Given the description of an element on the screen output the (x, y) to click on. 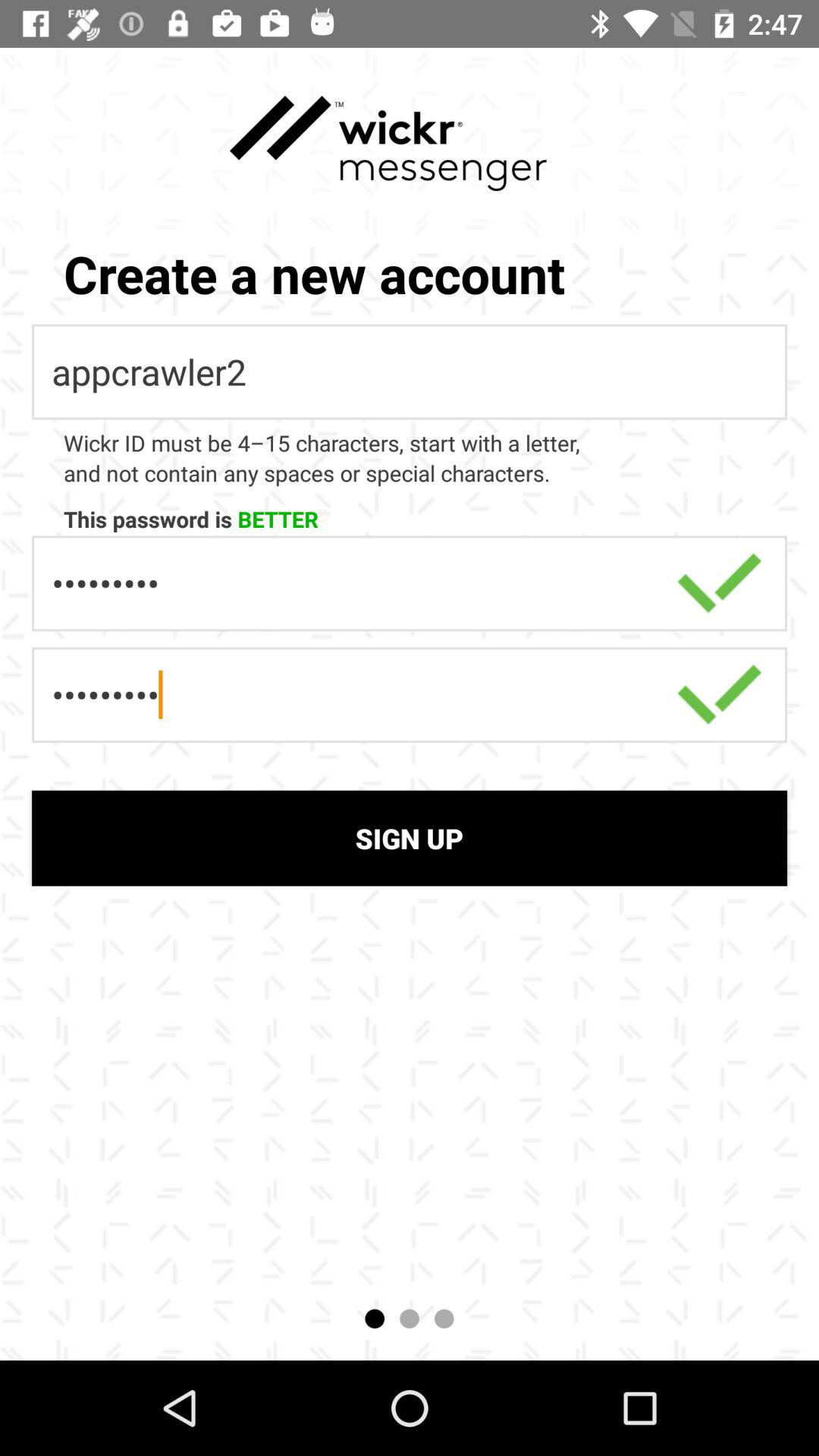
turn off sign up item (409, 838)
